Given the description of an element on the screen output the (x, y) to click on. 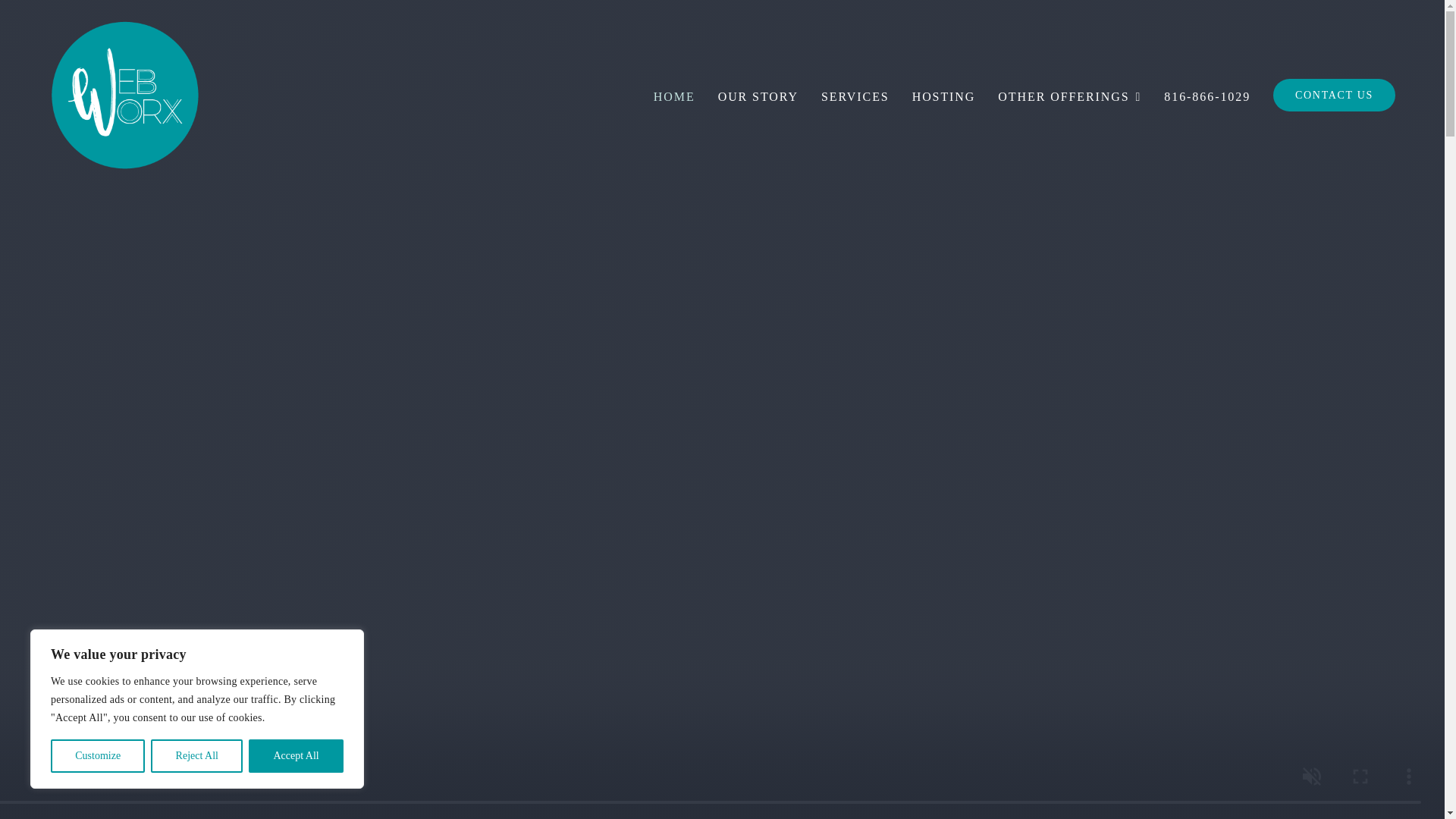
OTHER OFFERINGS (1069, 94)
Accept All (295, 756)
816-866-1029 (1206, 94)
Reject All (197, 756)
SERVICES (855, 94)
CONTACT US (1333, 94)
OUR STORY (757, 94)
HOSTING (943, 94)
Customize (97, 756)
